Given the description of an element on the screen output the (x, y) to click on. 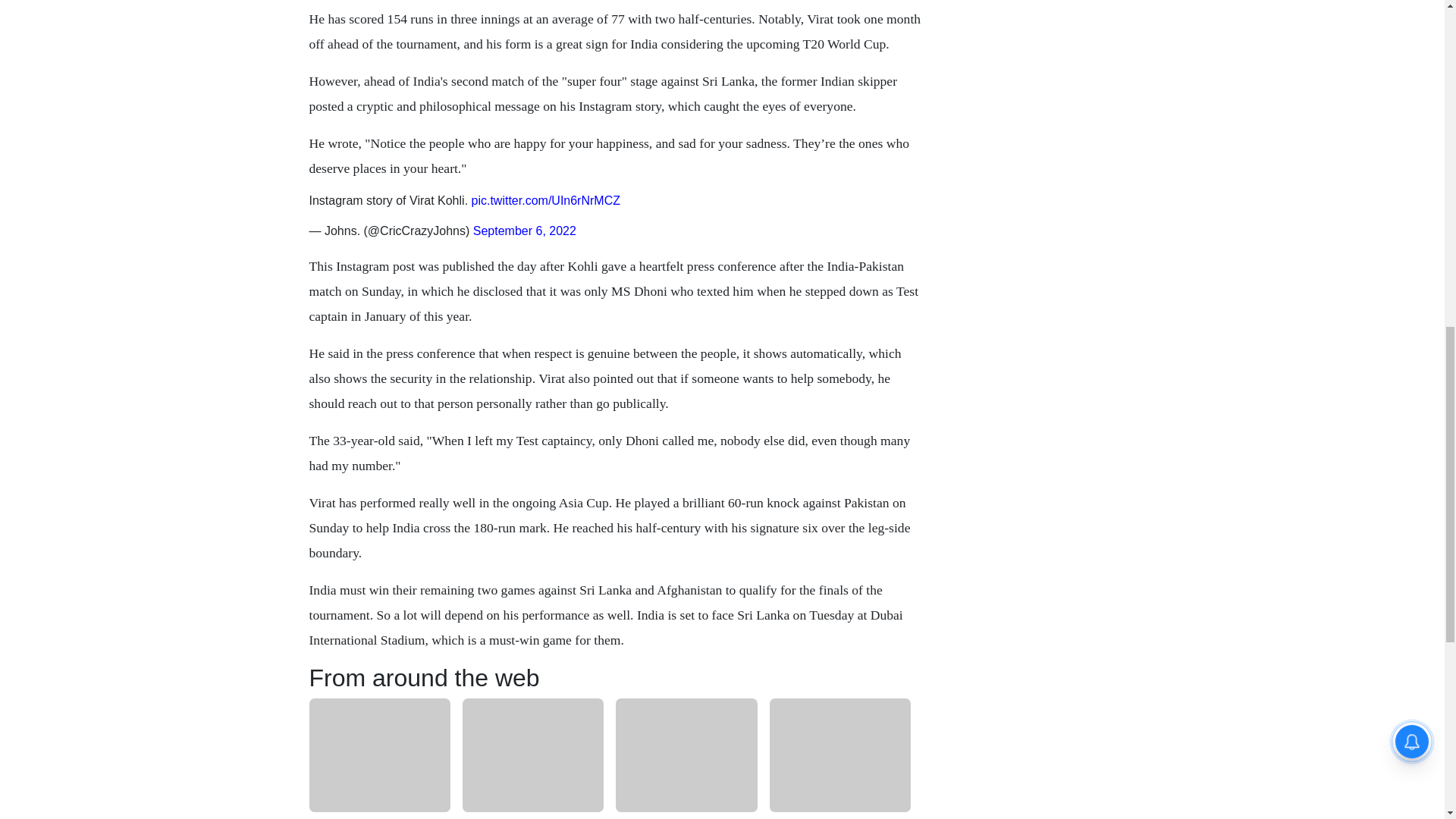
The Most Stunning Wedding Looks From Around The World (533, 815)
There Is A Green Man Trapped Inside A Tree! (378, 815)
September 6, 2022 (524, 230)
